Given the description of an element on the screen output the (x, y) to click on. 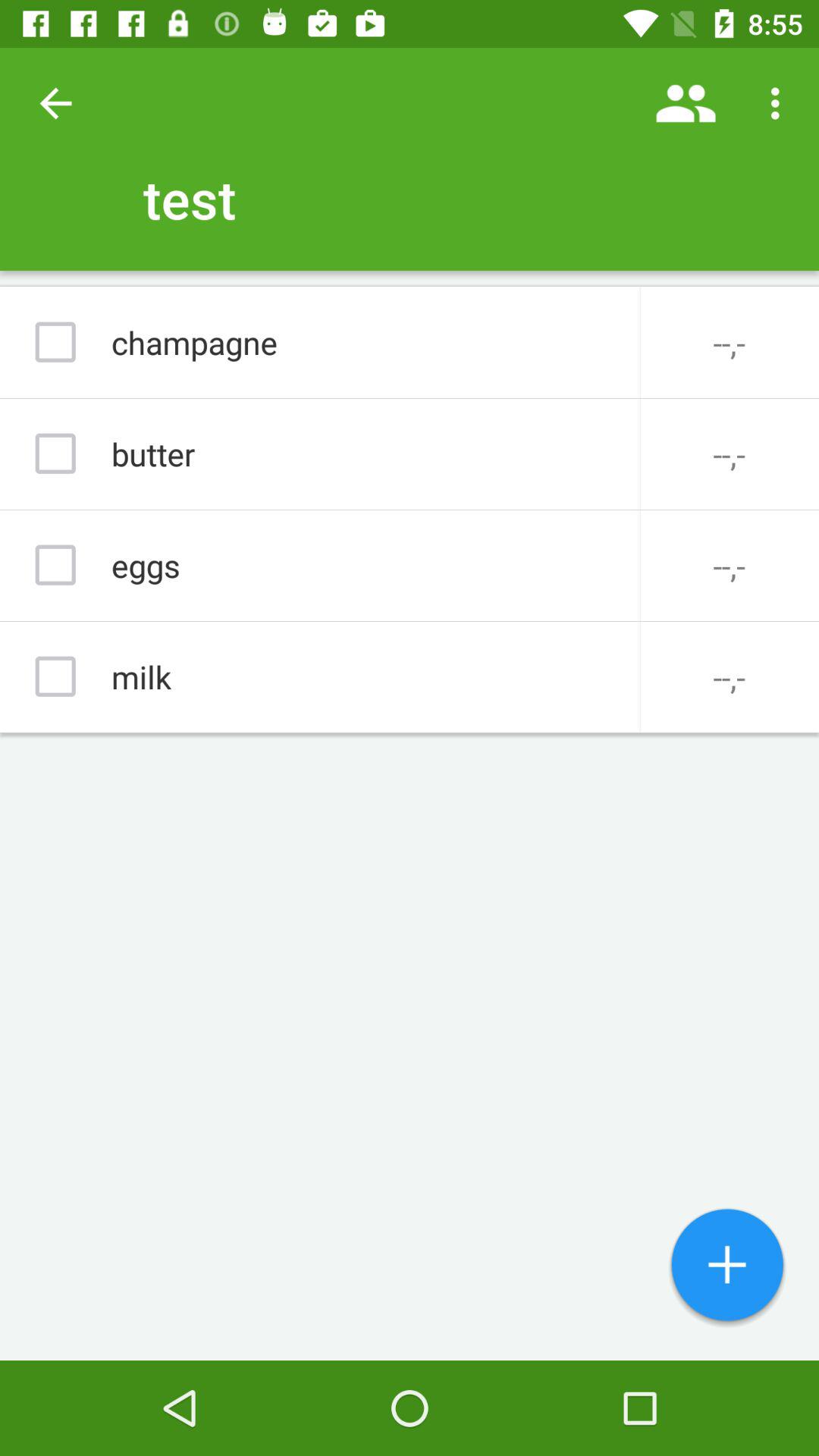
open the item below --,- (727, 1266)
